Given the description of an element on the screen output the (x, y) to click on. 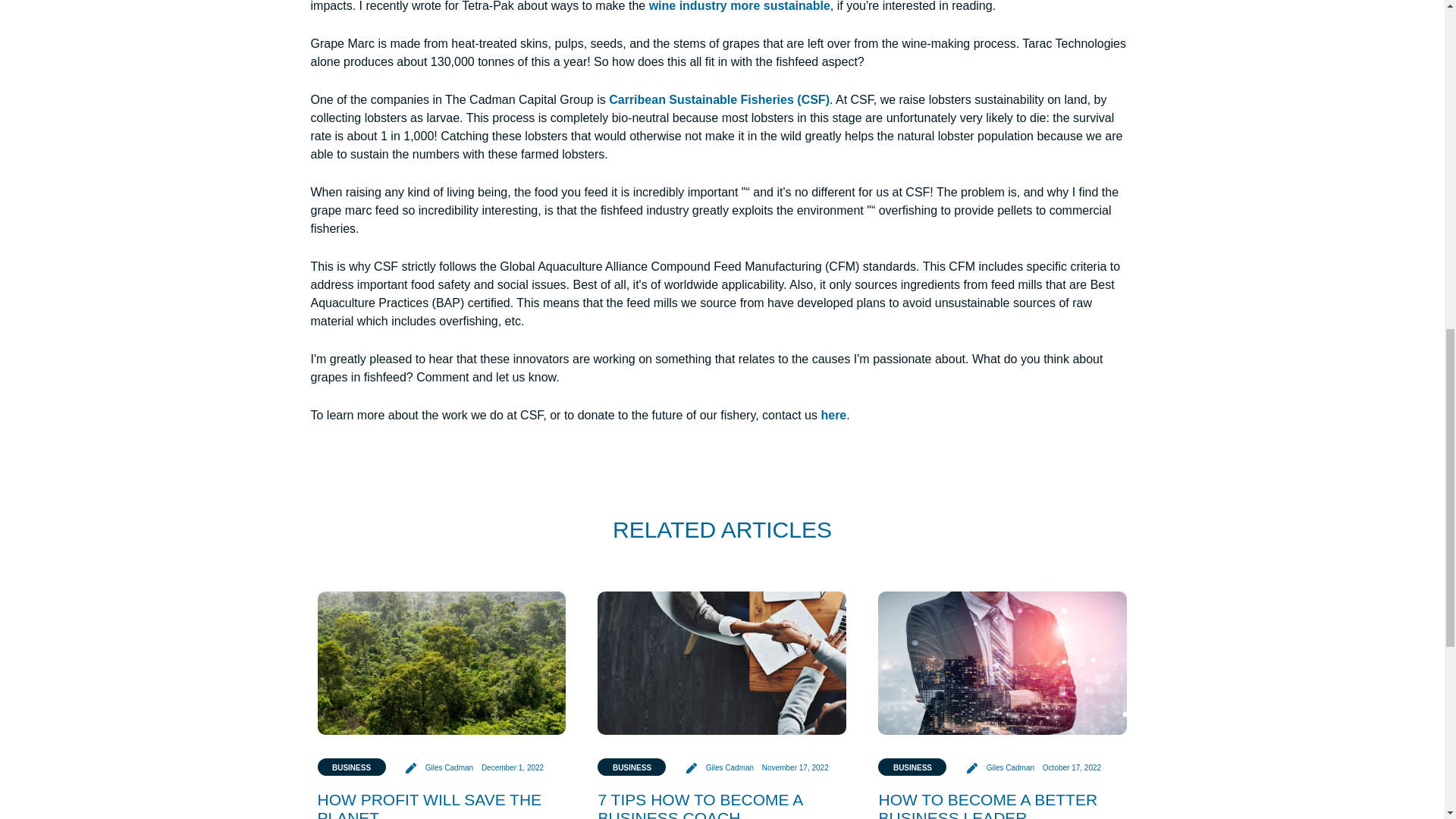
HOW TO BECOME A BETTER BUSINESS LEADER (987, 805)
HOW PROFIT WILL SAVE THE PLANET (429, 805)
Giles Cadman (720, 767)
BUSINESS (351, 766)
Giles Cadman (441, 767)
BUSINESS (911, 766)
Giles Cadman (1001, 767)
wine industry more sustainable (739, 6)
here (833, 414)
BUSINESS (630, 766)
7 TIPS HOW TO BECOME A BUSINESS COACH (699, 805)
